Given the description of an element on the screen output the (x, y) to click on. 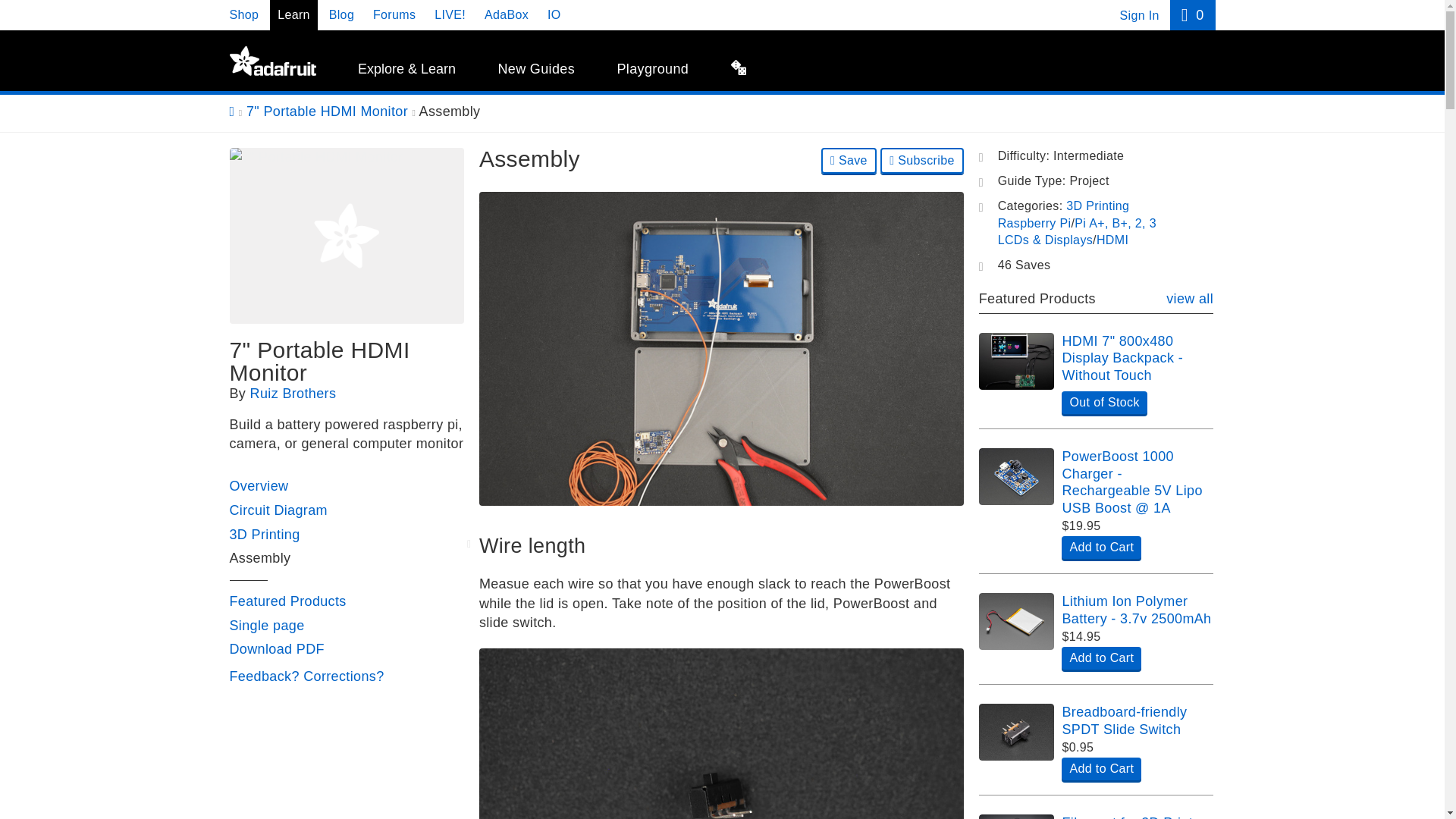
Sign In (1138, 15)
0 (1192, 14)
Adafruit Learning System (271, 60)
IO (553, 14)
Learn (294, 14)
Feedback? Corrections? (306, 676)
Blog (341, 14)
AdaBox (506, 14)
LIVE! (449, 14)
Forums (393, 14)
